Given the description of an element on the screen output the (x, y) to click on. 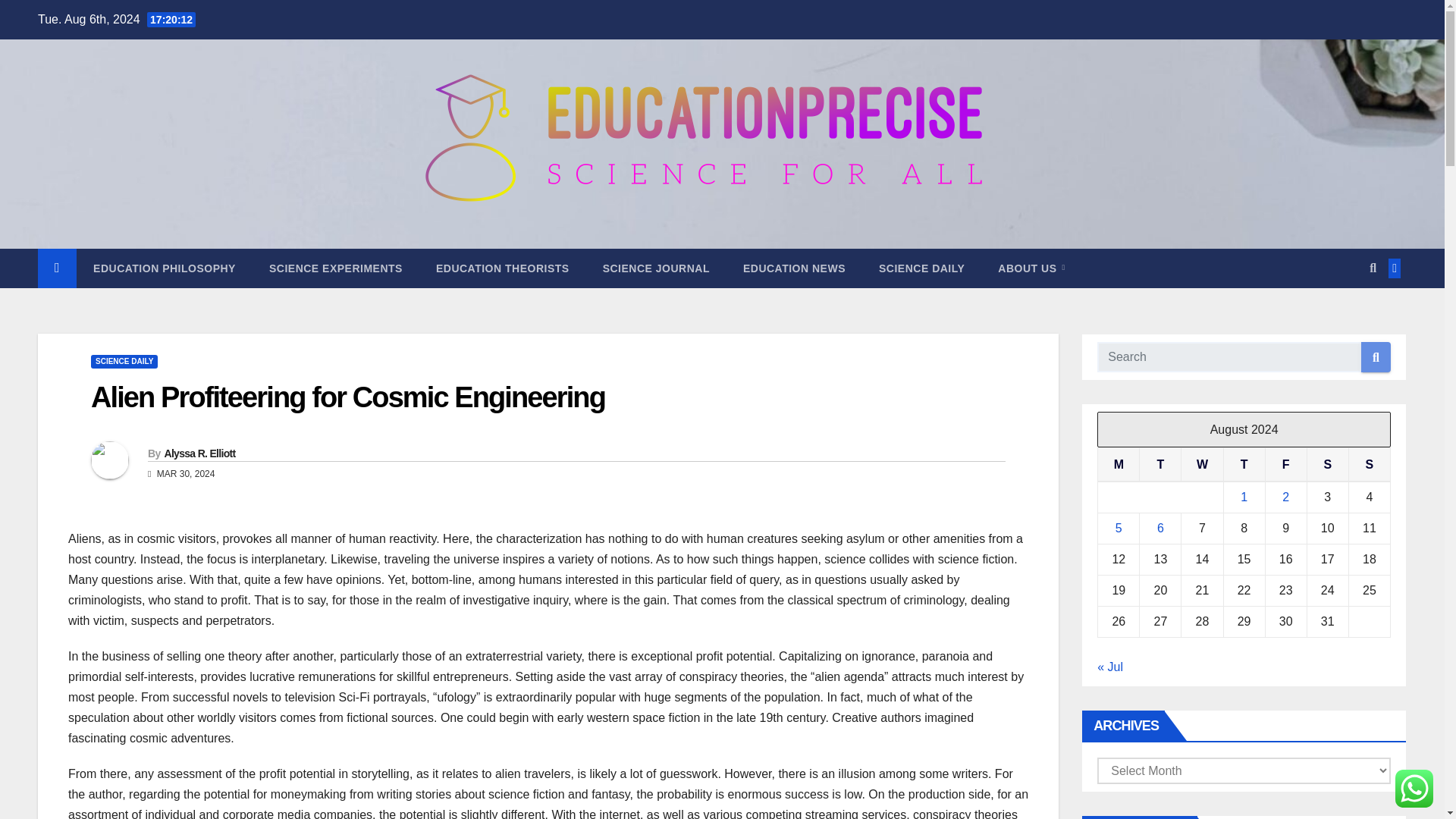
SCIENCE EXPERIMENTS (335, 268)
Alien Profiteering for Cosmic Engineering (347, 397)
EDUCATION NEWS (793, 268)
Science Daily (921, 268)
Education Philosophy (164, 268)
Education Theorists (502, 268)
Science Experiments (335, 268)
SCIENCE DAILY (921, 268)
About Us (1031, 268)
EDUCATION THEORISTS (502, 268)
